Given the description of an element on the screen output the (x, y) to click on. 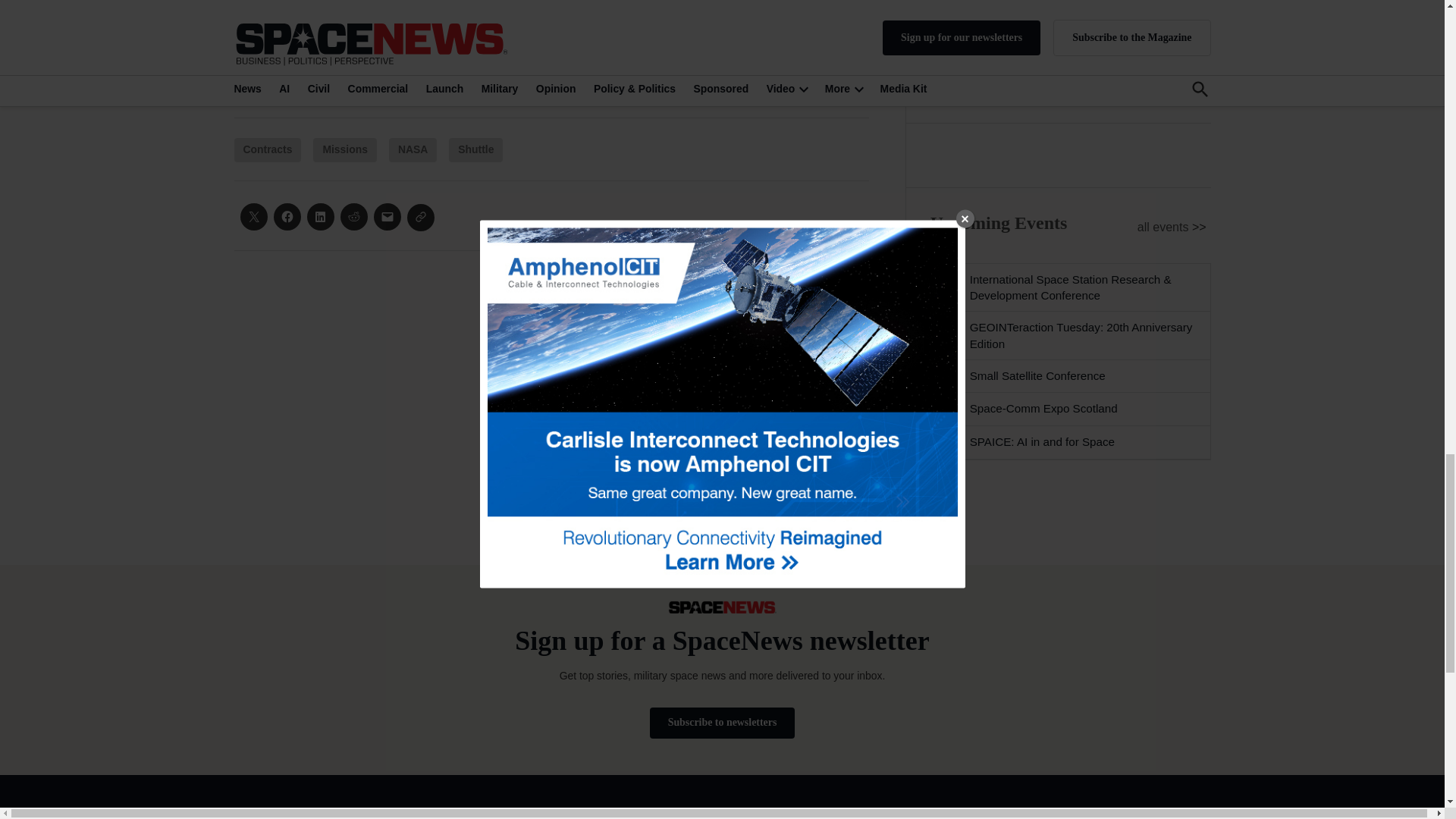
Click to share on Reddit (352, 216)
Click to share on X (253, 216)
Click to email a link to a friend (386, 216)
Click to share on LinkedIn (319, 216)
Click to share on Clipboard (419, 216)
Click to share on Facebook (286, 216)
